Given the description of an element on the screen output the (x, y) to click on. 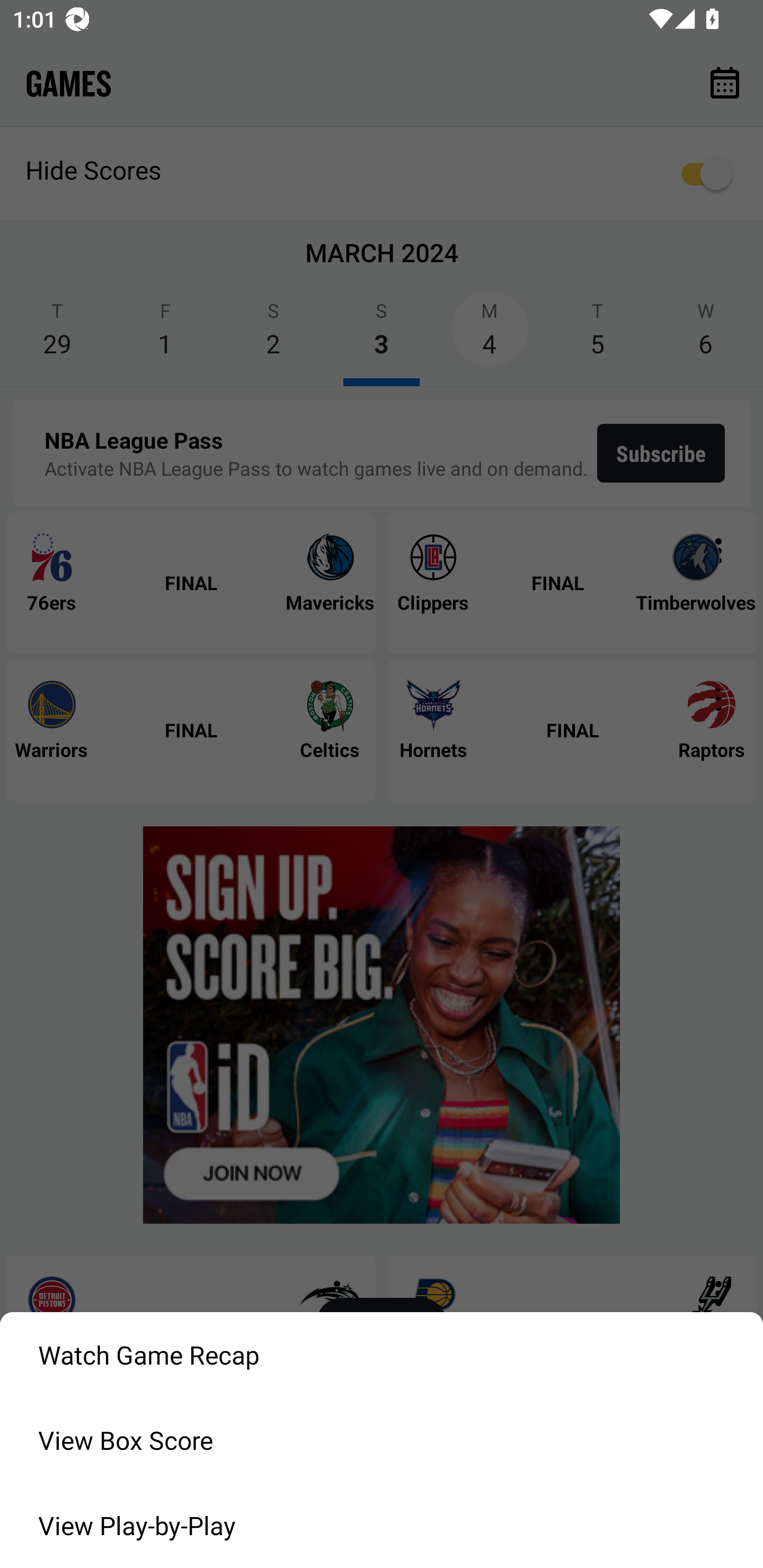
Watch Game Recap (381, 1354)
View Box Score (381, 1440)
View Play-by-Play (381, 1525)
